Given the description of an element on the screen output the (x, y) to click on. 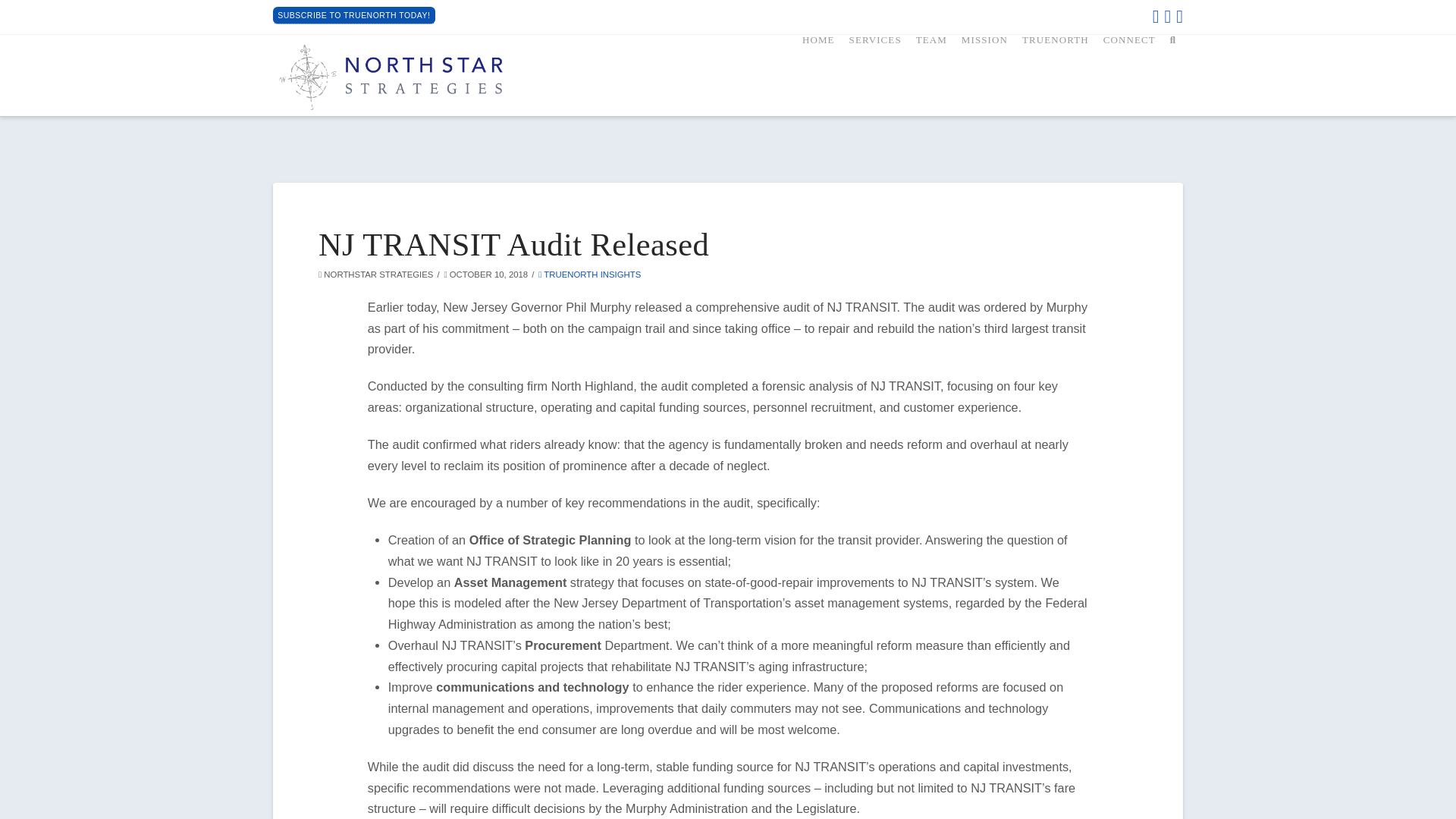
SUBSCRIBE TO TRUENORTH TODAY! (354, 14)
TRUENORTH INSIGHTS (589, 274)
CONNECT (1128, 71)
SERVICES (874, 71)
TRUENORTH (1055, 71)
